Given the description of an element on the screen output the (x, y) to click on. 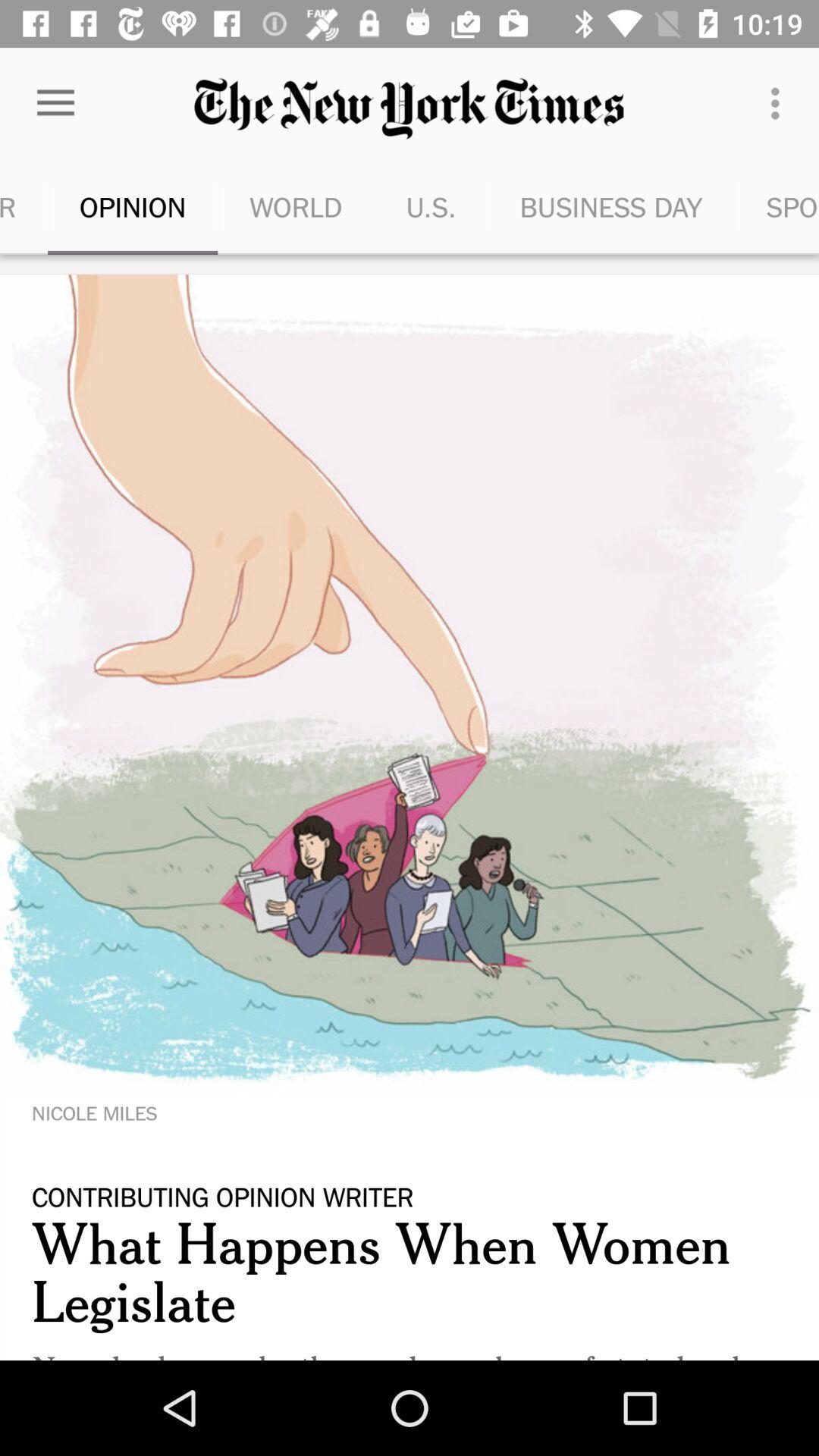
swipe to sports icon (776, 206)
